Given the description of an element on the screen output the (x, y) to click on. 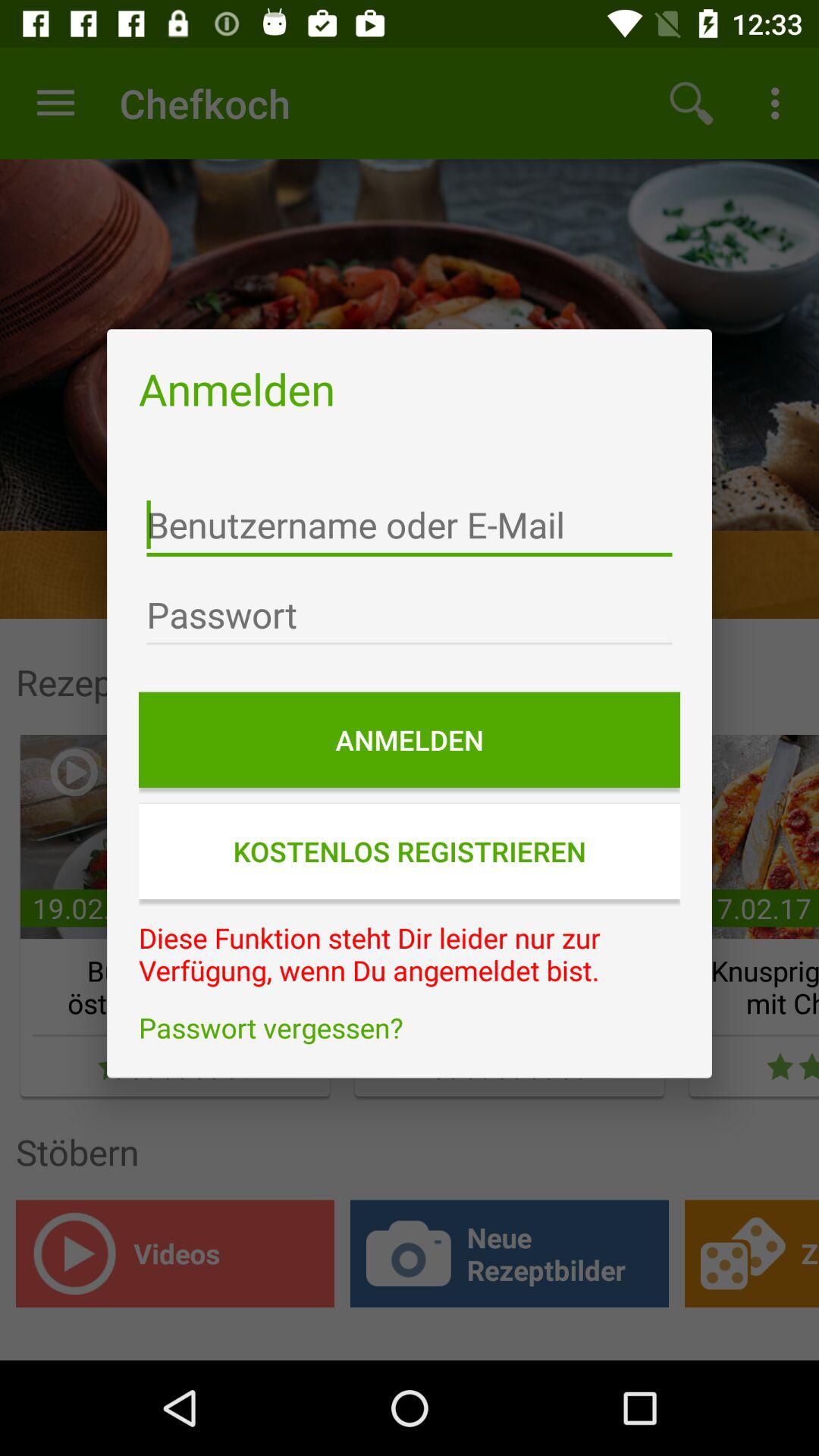
scroll to passwort vergessen? icon (409, 1027)
